Given the description of an element on the screen output the (x, y) to click on. 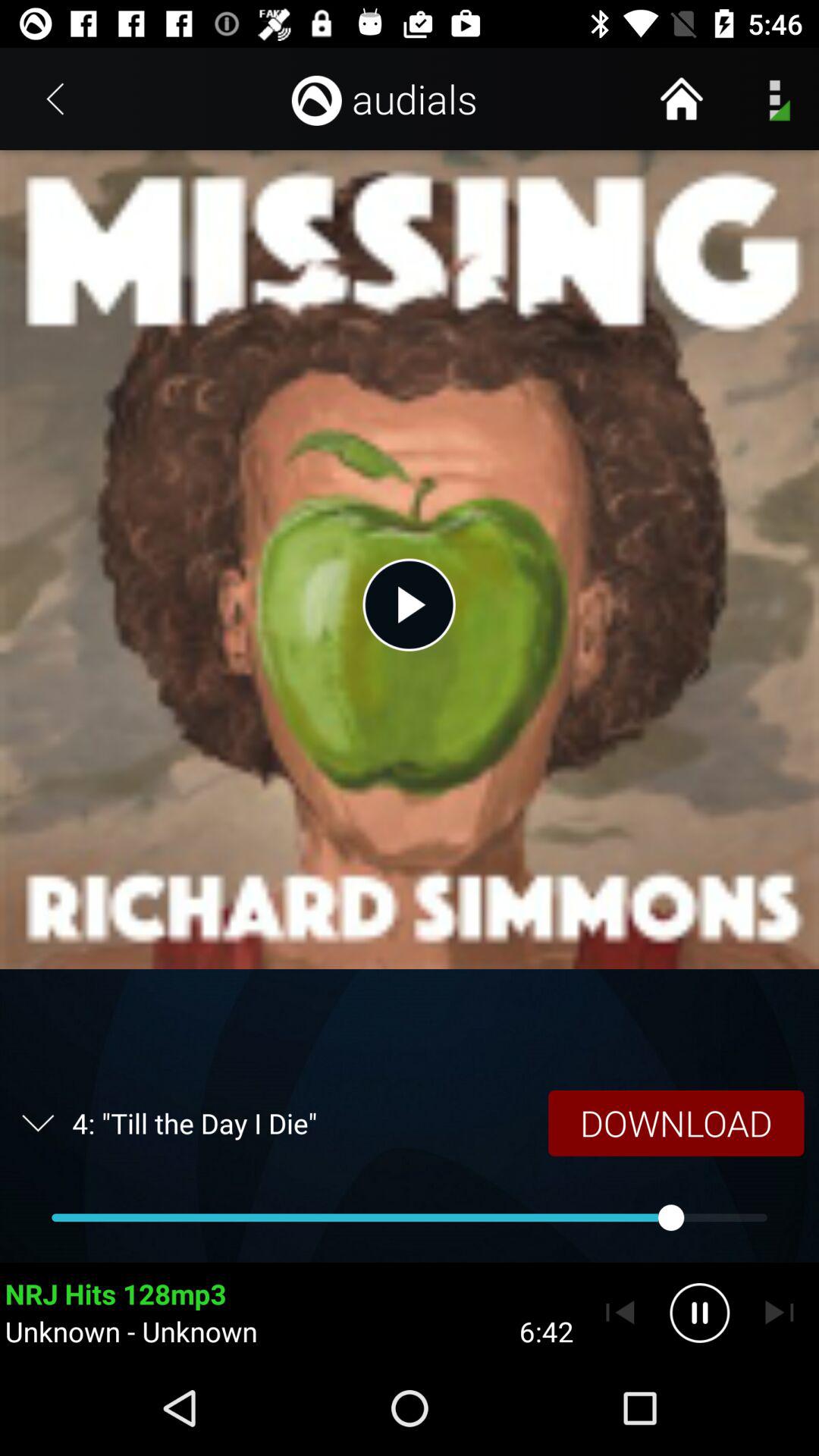
pause button (699, 1312)
